Given the description of an element on the screen output the (x, y) to click on. 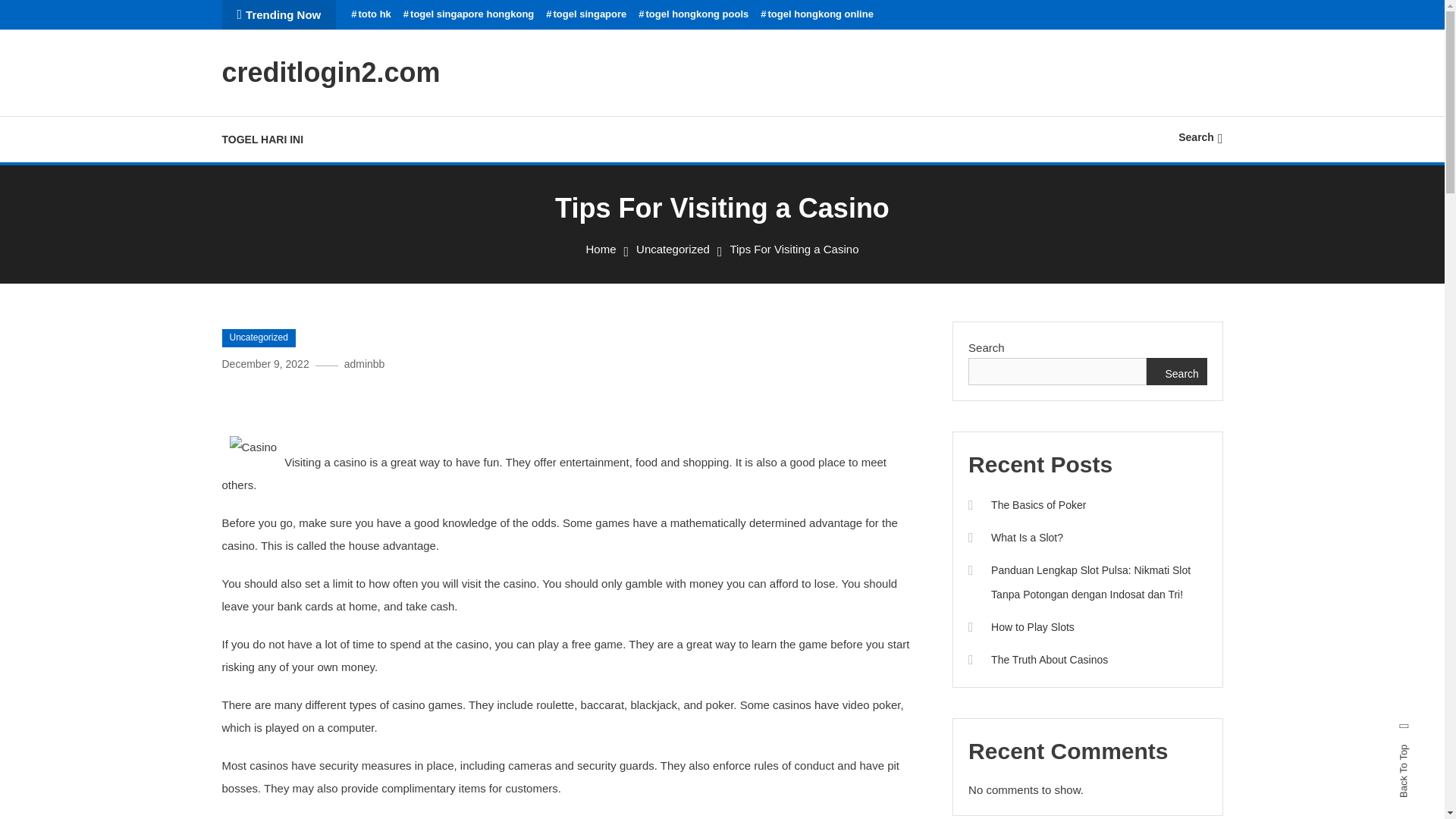
adminbb (364, 363)
togel singapore (586, 13)
Uncategorized (673, 248)
creditlogin2.com (330, 71)
December 9, 2022 (264, 363)
TOGEL HARI INI (269, 139)
Search (768, 434)
Uncategorized (258, 338)
togel hongkong online (816, 13)
togel singapore hongkong (468, 13)
